Given the description of an element on the screen output the (x, y) to click on. 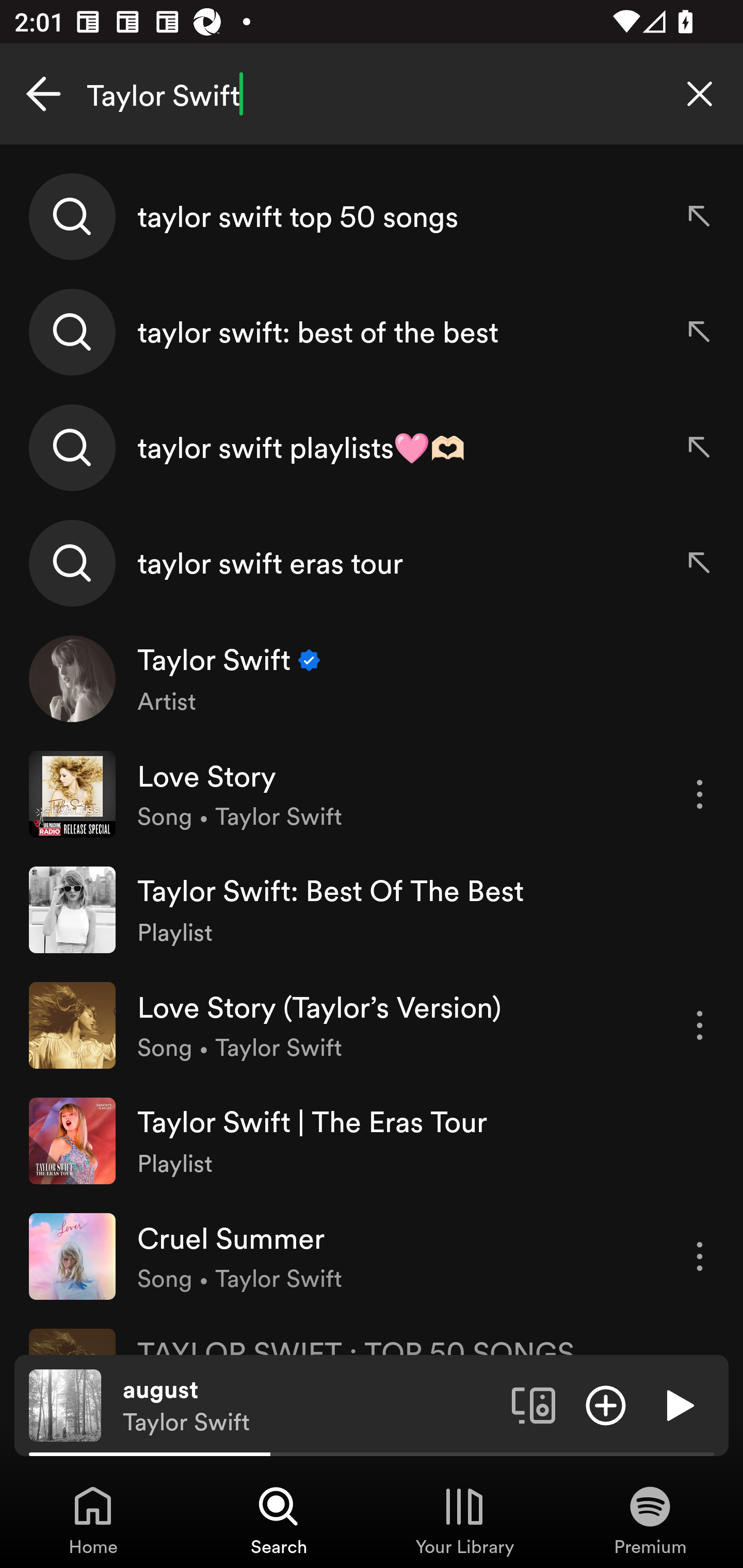
Taylor Swift (371, 93)
Cancel (43, 93)
Clear search query (699, 93)
taylor swift top 50 songs (371, 216)
taylor swift: best of the best (371, 332)
taylor swift playlists🩷🫶🏻 (371, 447)
taylor swift eras tour (371, 562)
Taylor Swift Verified Artist (371, 678)
More options for song Love Story (699, 794)
Taylor Swift: Best Of The Best Playlist (371, 909)
Taylor Swift | The Eras Tour Playlist (371, 1140)
More options for song Cruel Summer (699, 1256)
august Taylor Swift (309, 1405)
The cover art of the currently playing track (64, 1404)
Connect to a device. Opens the devices menu (533, 1404)
Add item (605, 1404)
Play (677, 1404)
Home, Tab 1 of 4 Home Home (92, 1519)
Search, Tab 2 of 4 Search Search (278, 1519)
Your Library, Tab 3 of 4 Your Library Your Library (464, 1519)
Premium, Tab 4 of 4 Premium Premium (650, 1519)
